Given the description of an element on the screen output the (x, y) to click on. 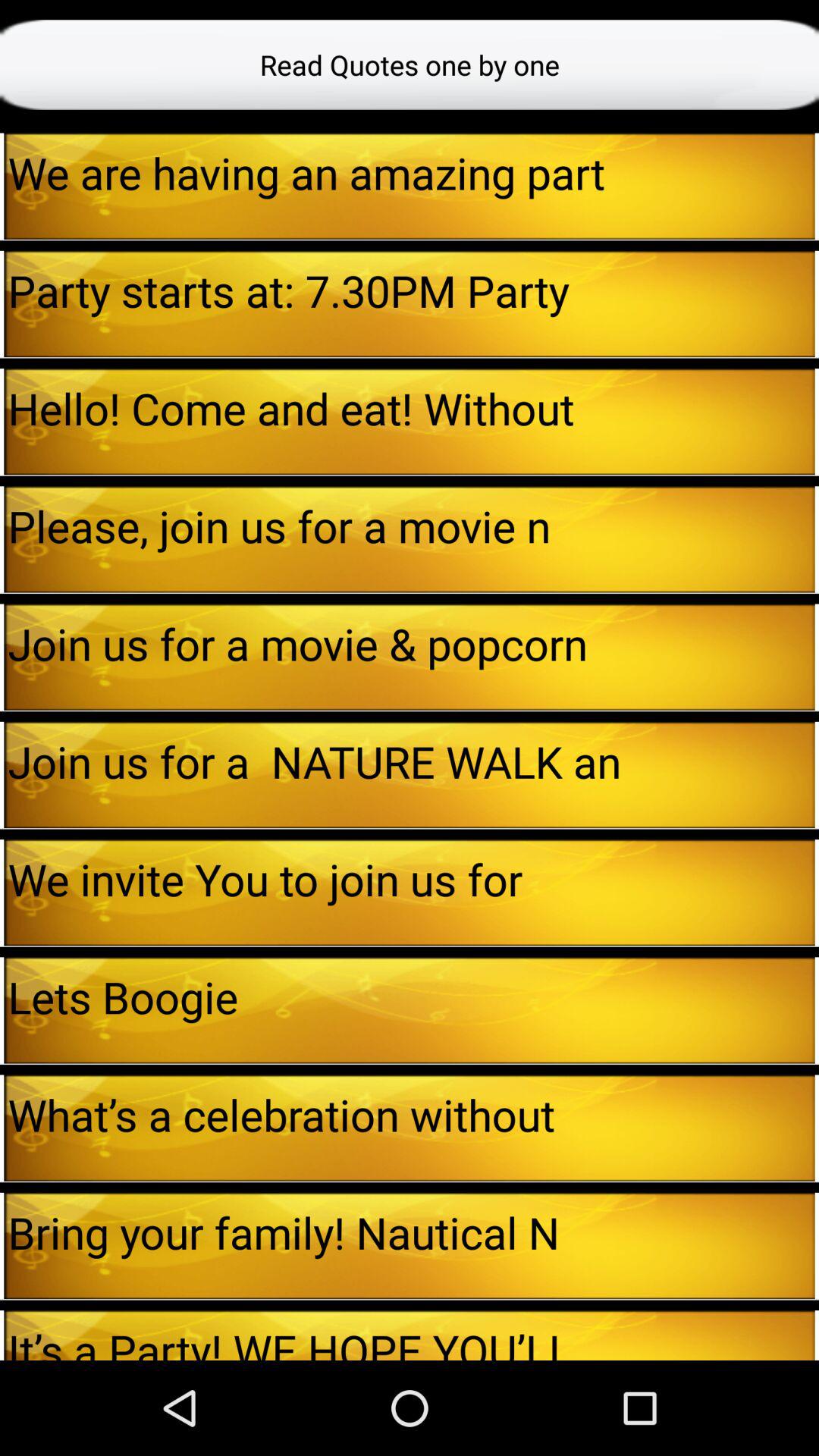
press icon to the right of lets boogie item (817, 1010)
